Given the description of an element on the screen output the (x, y) to click on. 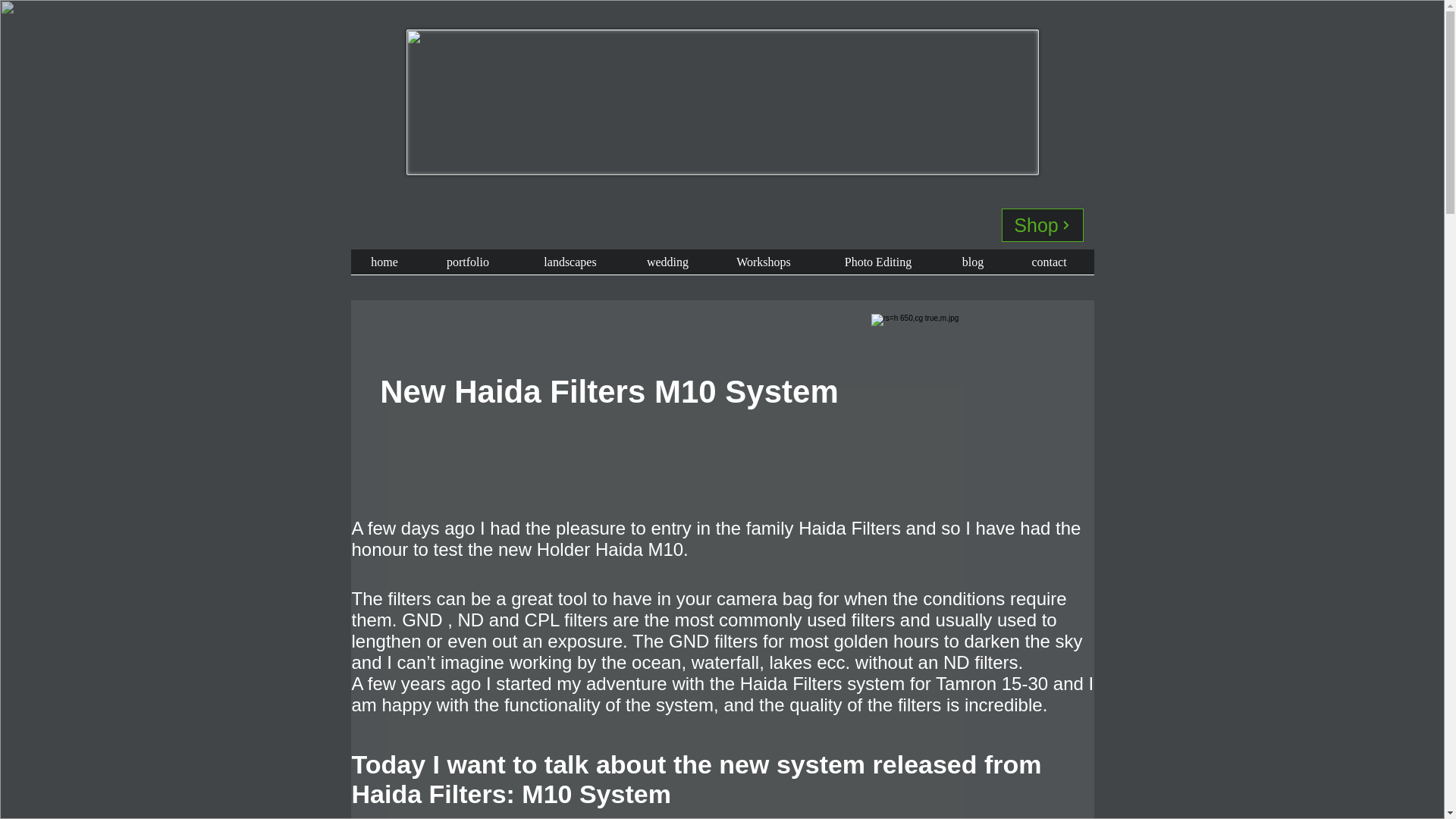
contact (1048, 266)
Firma 24.07 - White.png (722, 102)
Shop (1042, 224)
blog (973, 266)
home (383, 266)
wedding (668, 266)
Photo Editing (876, 266)
